Given the description of an element on the screen output the (x, y) to click on. 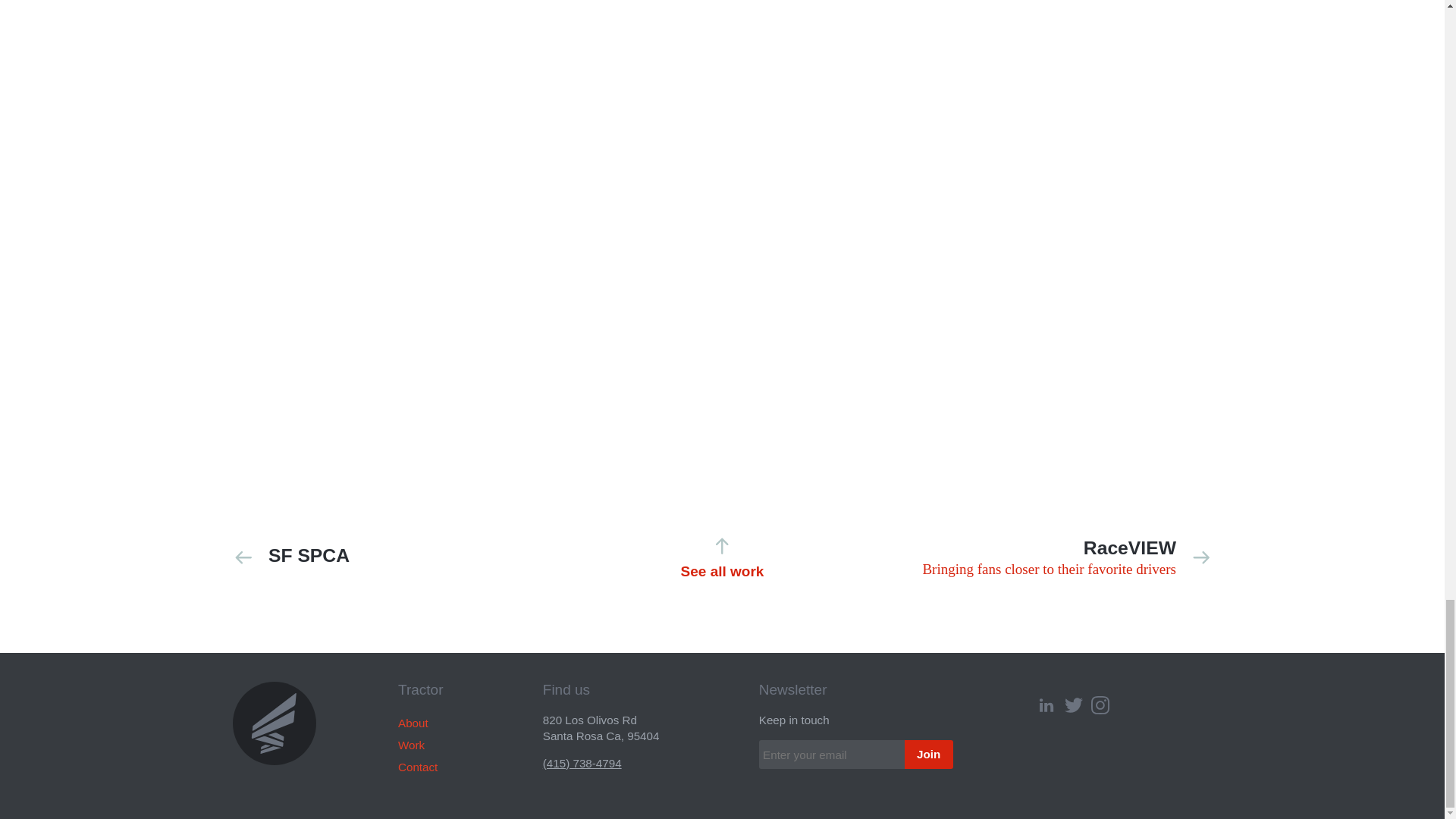
Work (411, 745)
Contact (1053, 557)
SF SPCA (417, 767)
See all work (389, 556)
About (721, 557)
Join (412, 723)
